Given the description of an element on the screen output the (x, y) to click on. 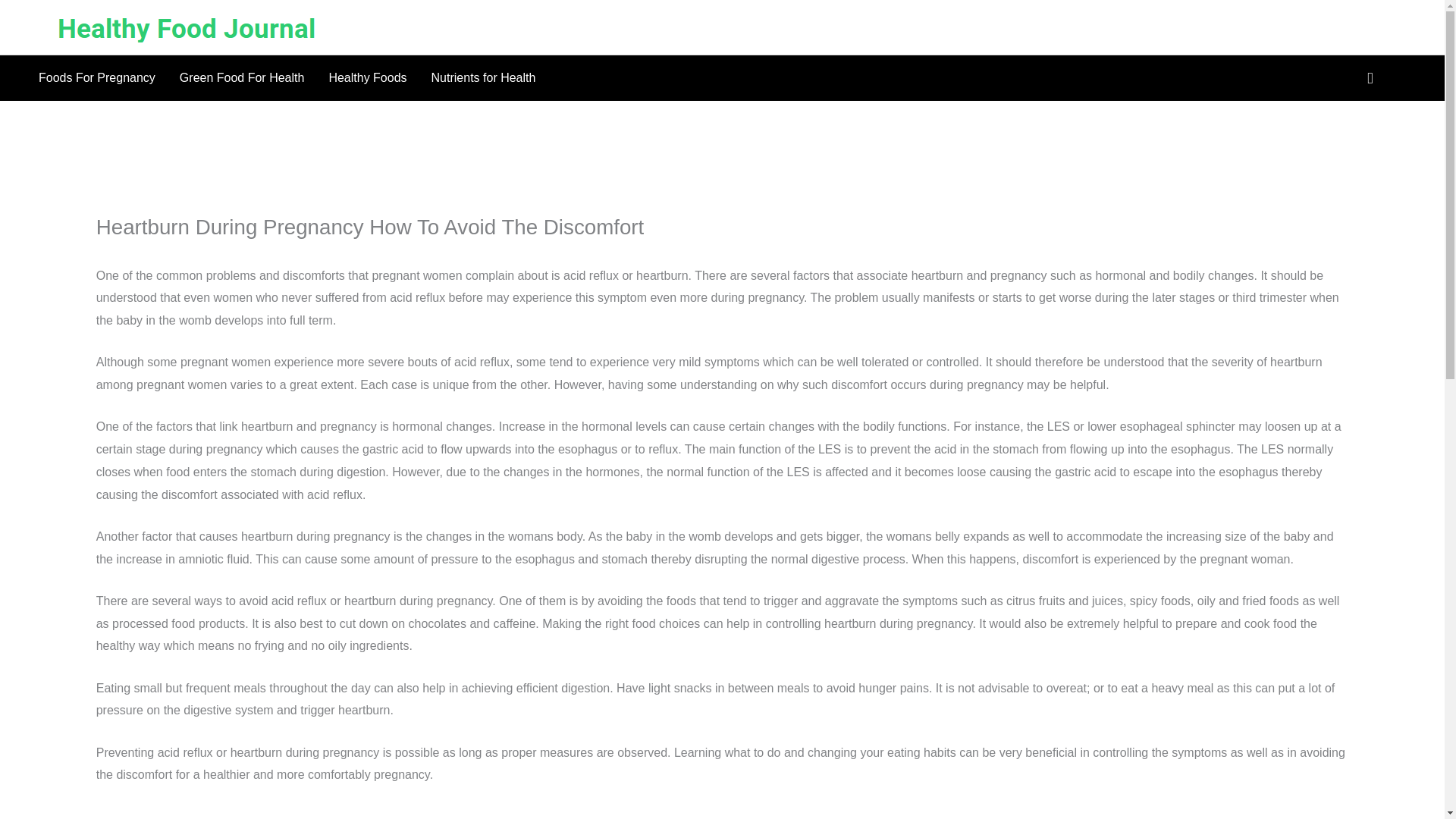
Nutrients for Health (483, 77)
Foods For Pregnancy (96, 77)
Search (1392, 77)
Green Food For Health (242, 77)
Healthy Foods (367, 77)
